Given the description of an element on the screen output the (x, y) to click on. 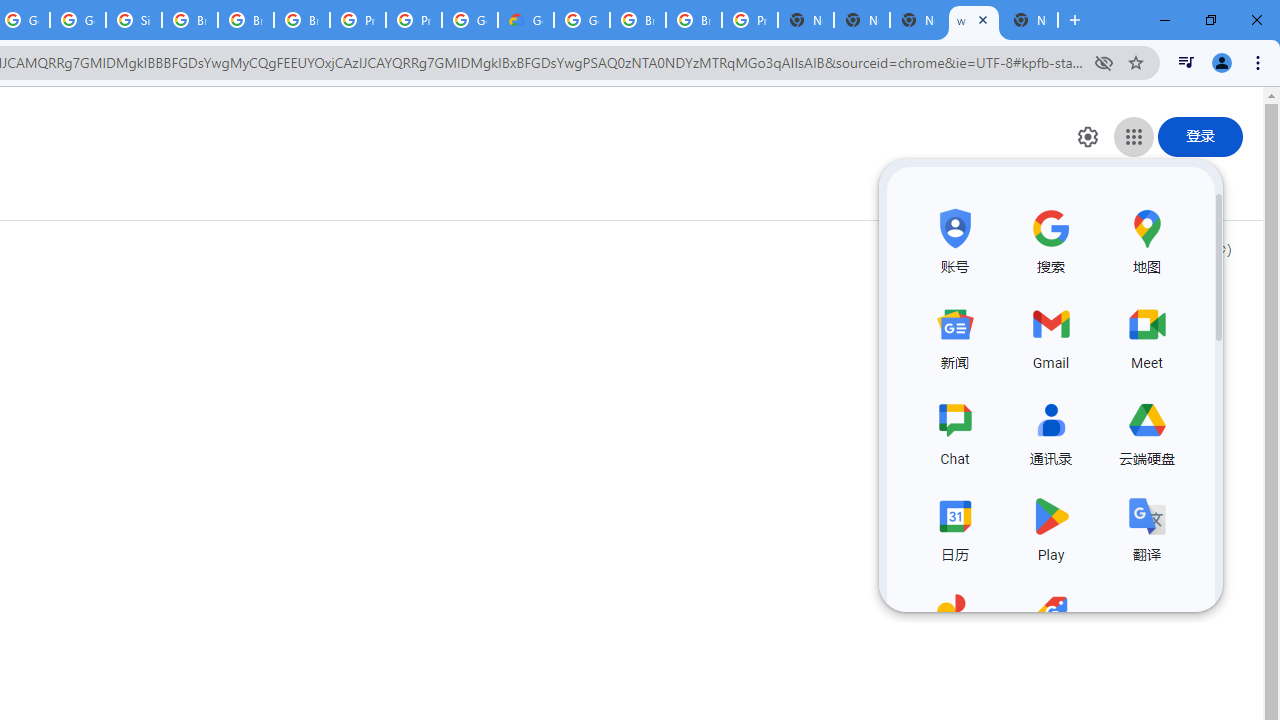
Google Cloud Platform (469, 20)
Google Cloud Estimate Summary (525, 20)
Browse Chrome as a guest - Computer - Google Chrome Help (245, 20)
Control your music, videos, and more (1185, 62)
Sign in - Google Accounts (134, 20)
